Given the description of an element on the screen output the (x, y) to click on. 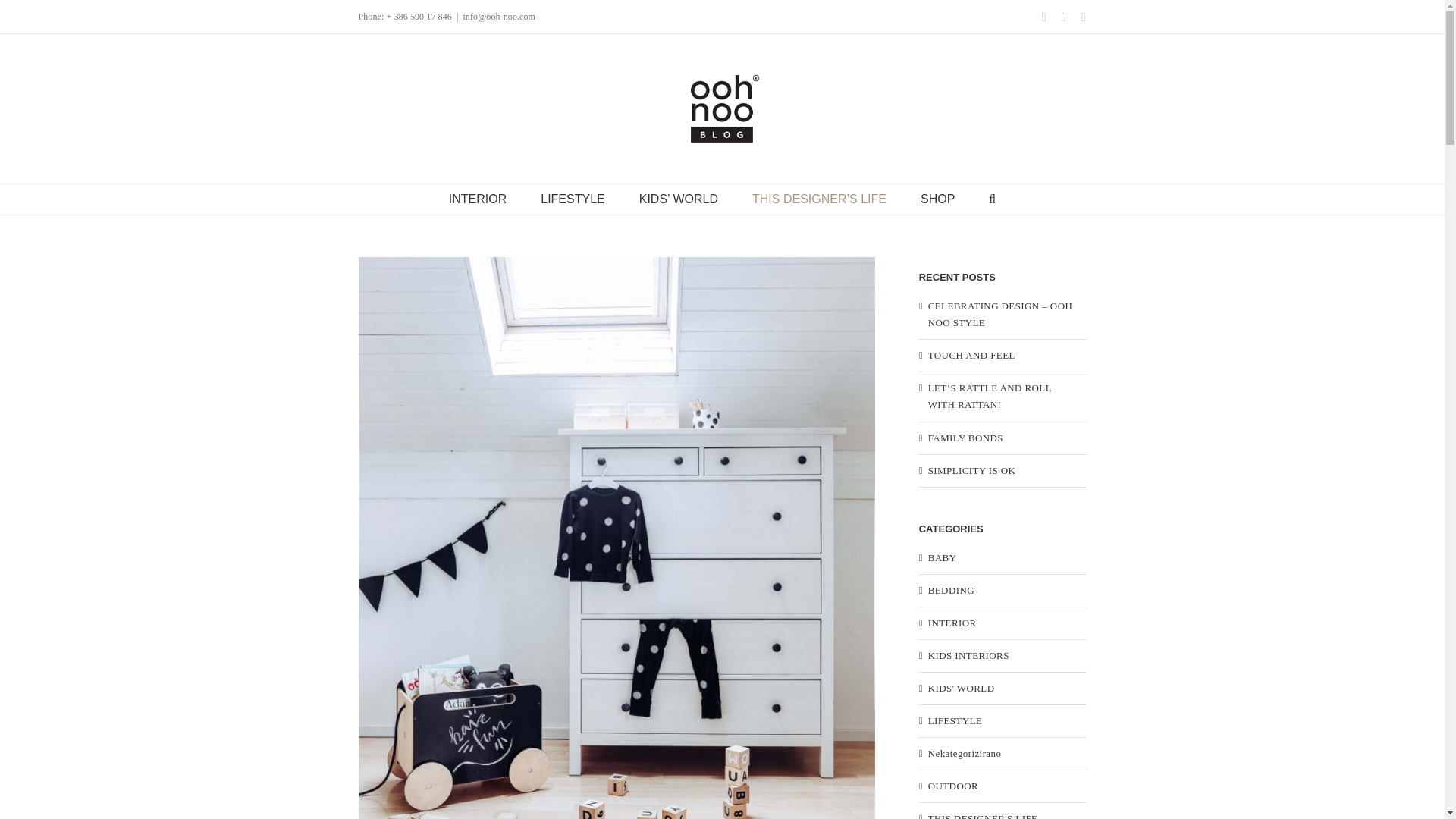
SHOP (937, 199)
INTERIOR (477, 199)
LIFESTYLE (572, 199)
